Given the description of an element on the screen output the (x, y) to click on. 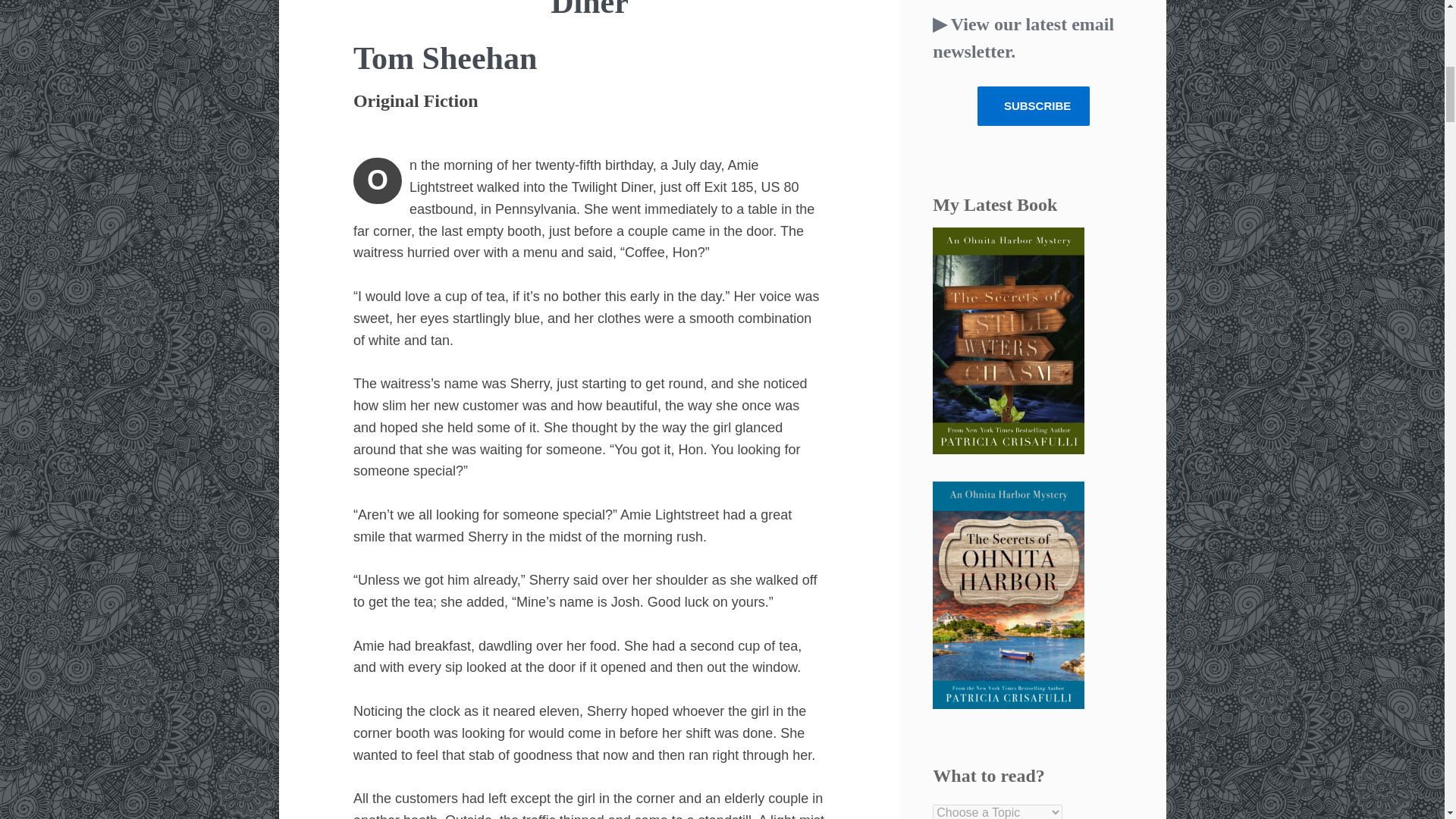
Amie and Sherry and the Twilight Diner (589, 9)
Amie and Sherry and the Twilight Diner (589, 9)
Tom Sheehan (445, 58)
